Given the description of an element on the screen output the (x, y) to click on. 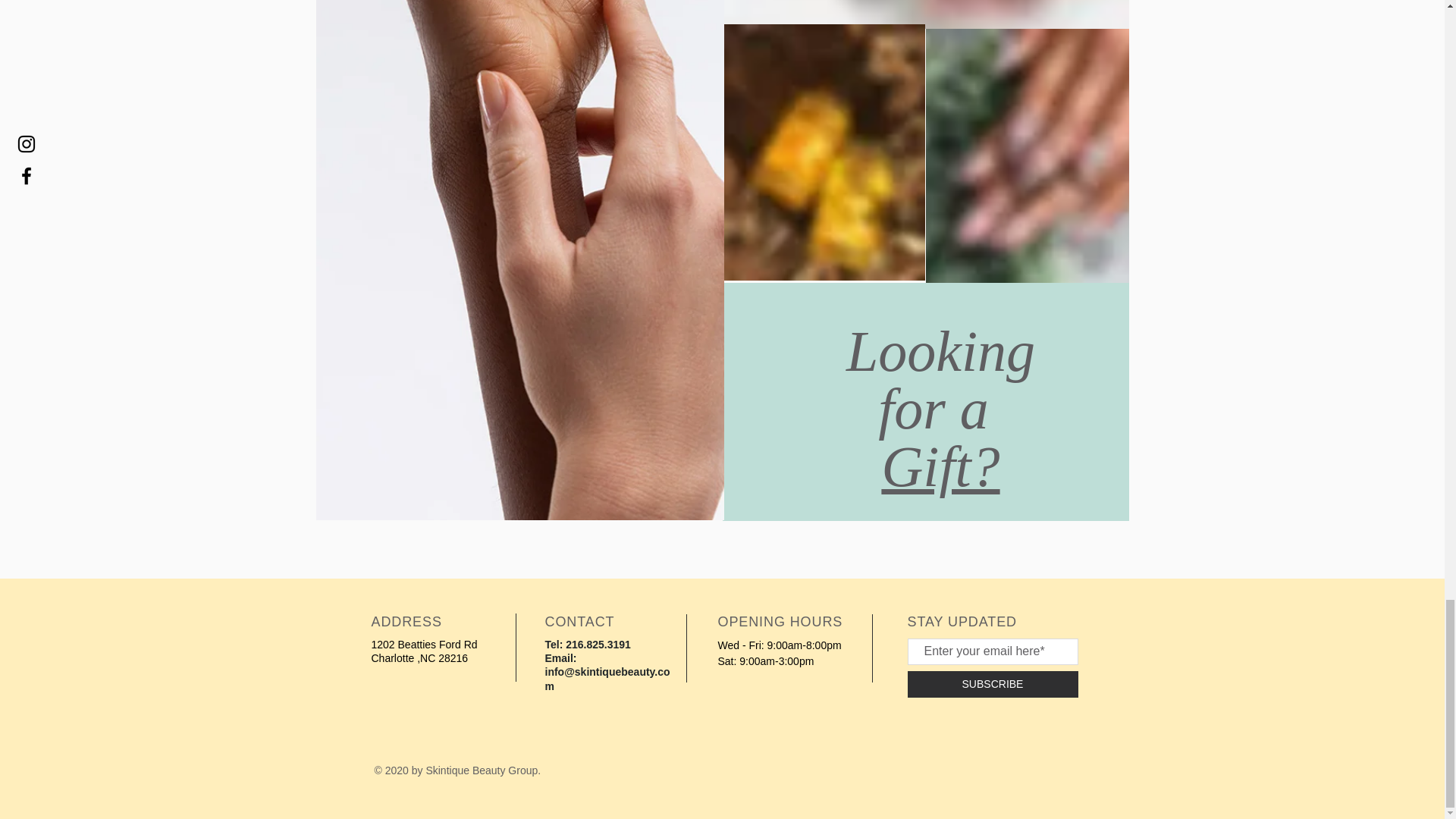
Gift? (939, 465)
Looking for a  (940, 379)
SUBSCRIBE (992, 683)
